Given the description of an element on the screen output the (x, y) to click on. 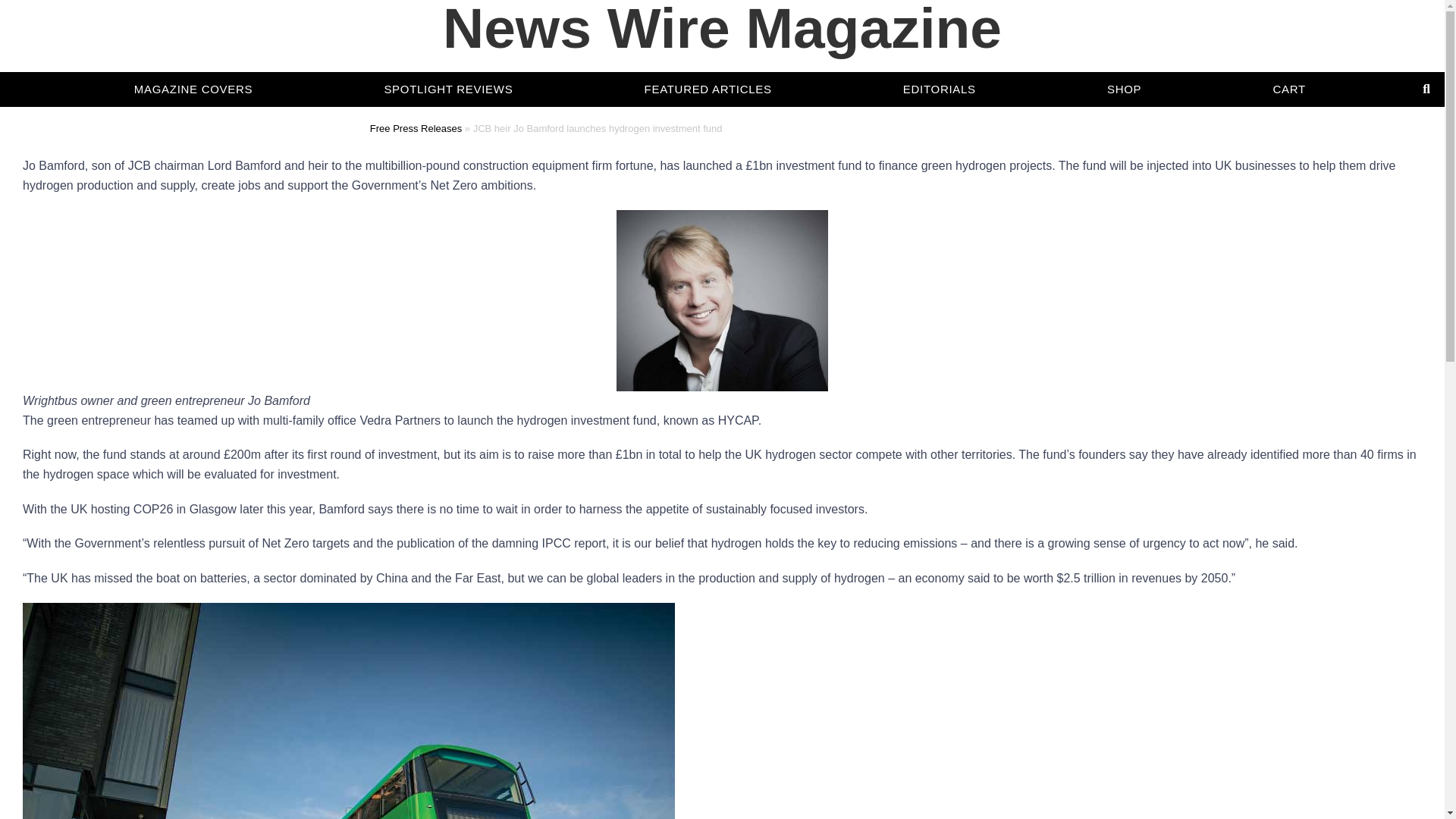
FEATURED ARTICLES (707, 61)
EDITORIALS (938, 63)
Free Press Releases (415, 128)
JCB heir Jo Bamford launches hydrogen investment fund (721, 300)
MAGAZINE COVERS (192, 58)
SPOTLIGHT REVIEWS (448, 59)
CART (1289, 67)
SHOP (1124, 65)
News Wire Magazine (721, 81)
